Given the description of an element on the screen output the (x, y) to click on. 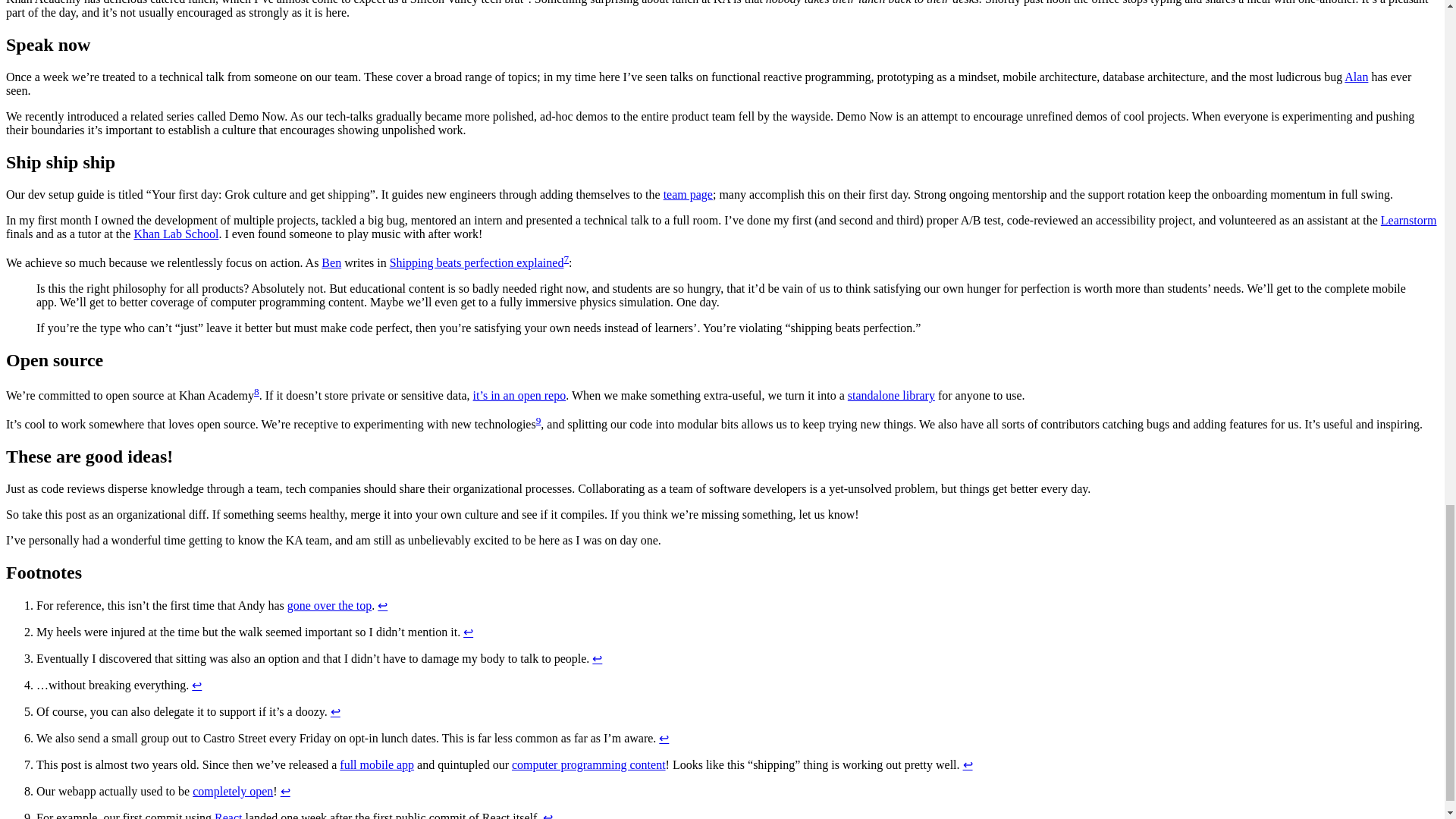
computer programming content (588, 764)
Alan (1355, 76)
Shipping beats perfection explained (477, 262)
gone over the top (329, 604)
Khan Lab School (175, 233)
standalone library (890, 395)
team page (688, 194)
full mobile app (376, 764)
Ben (330, 262)
